Given the description of an element on the screen output the (x, y) to click on. 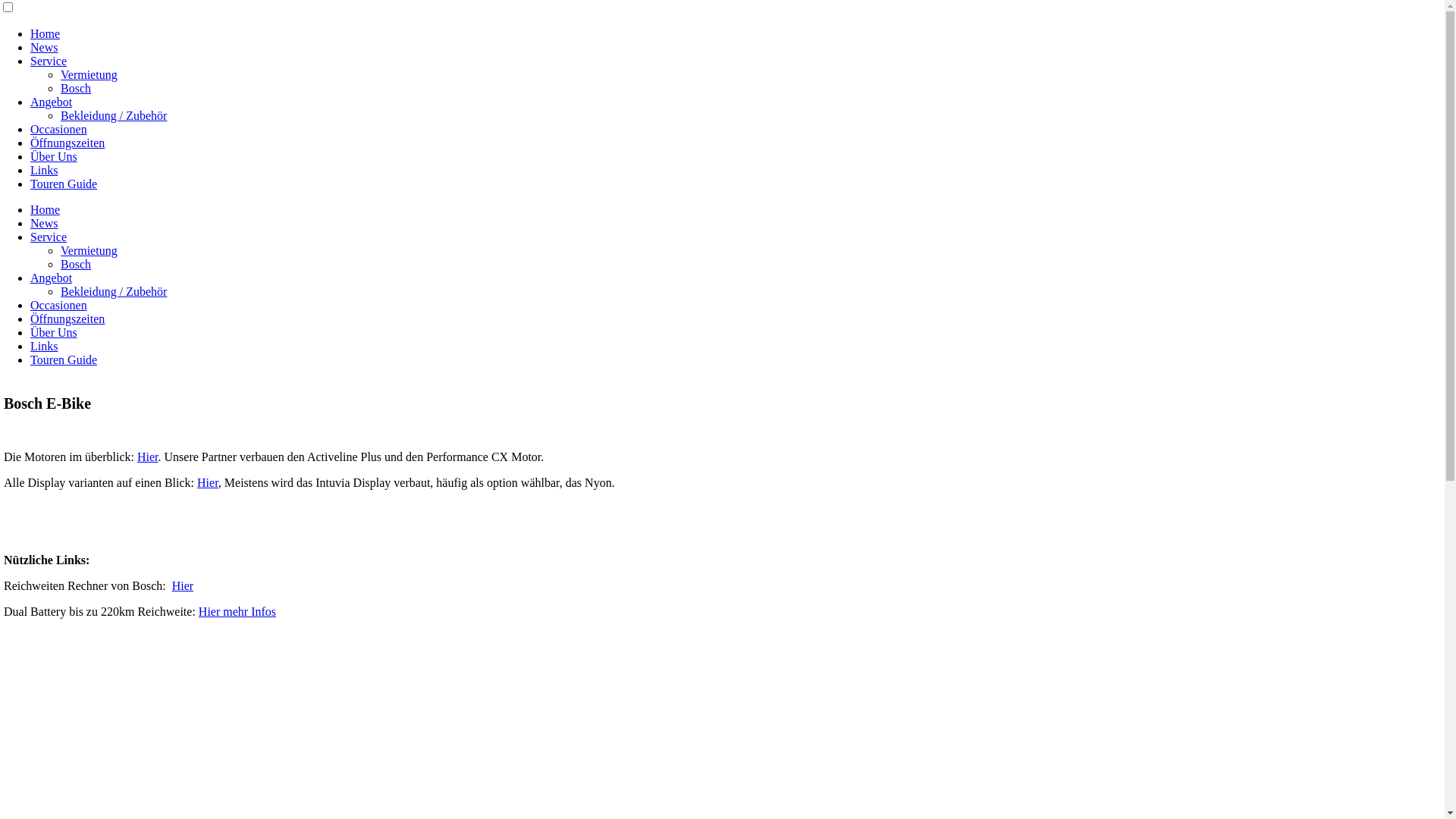
Angebot Element type: text (51, 101)
Bosch Element type: text (75, 87)
Touren Guide Element type: text (63, 183)
Angebot Element type: text (51, 277)
Bosch Element type: text (75, 263)
Links Element type: text (43, 169)
News Element type: text (43, 46)
Occasionen Element type: text (58, 304)
Vermietung Element type: text (88, 74)
Service Element type: text (48, 60)
News Element type: text (43, 222)
Hier Element type: text (147, 456)
Links Element type: text (43, 345)
Service Element type: text (48, 236)
Hier mehr Infos Element type: text (237, 611)
Home Element type: text (44, 209)
Touren Guide Element type: text (63, 359)
Hier Element type: text (207, 482)
Home Element type: text (44, 33)
Hier Element type: text (182, 585)
Occasionen Element type: text (58, 128)
Vermietung Element type: text (88, 250)
